Given the description of an element on the screen output the (x, y) to click on. 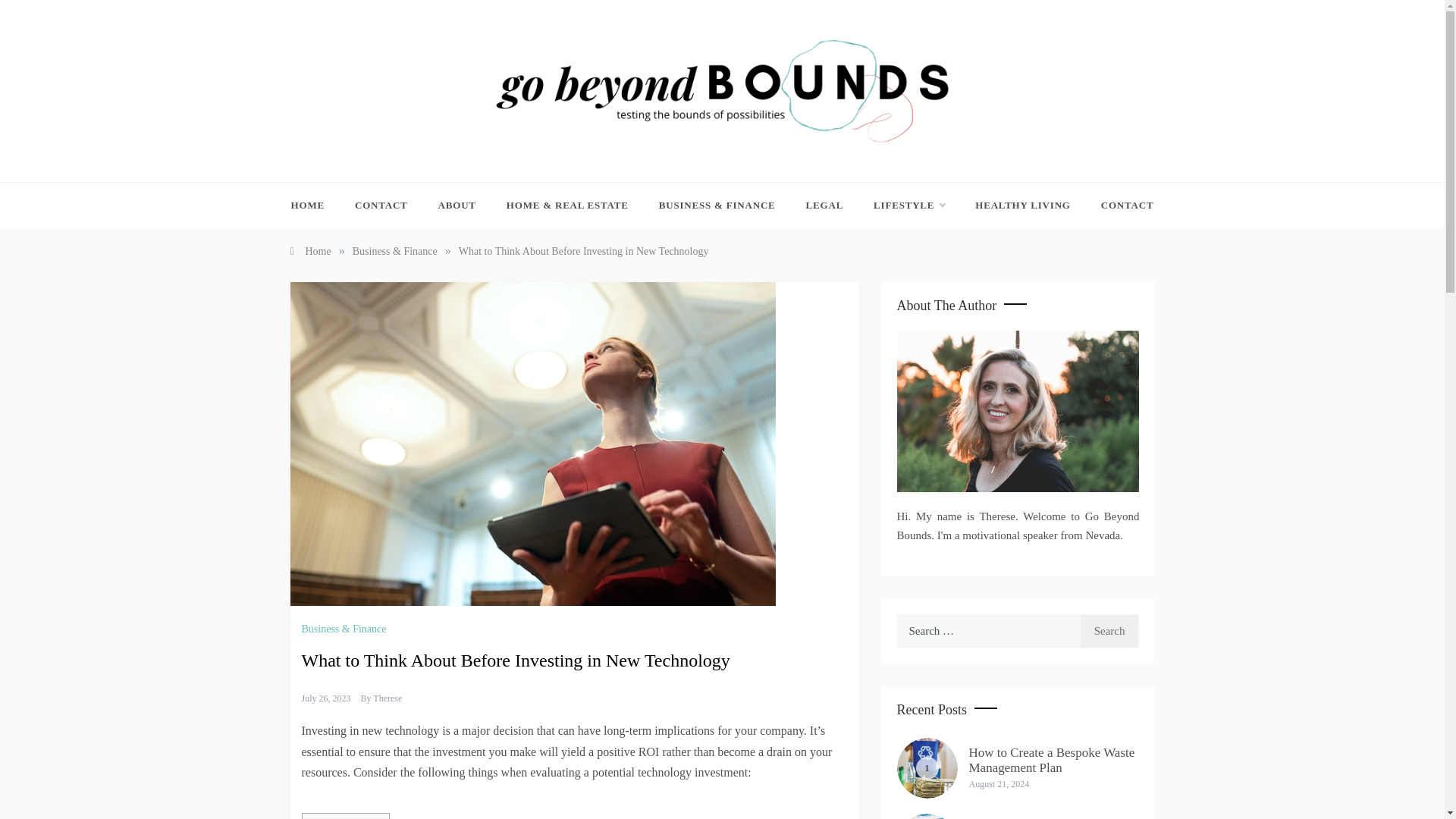
ABOUT (457, 205)
Therese (386, 697)
GO BEYOND BOUNDS (618, 157)
How to Create a Bespoke Waste Management Plan (1052, 759)
HOME (315, 205)
CONTACT (1120, 205)
LEGAL (824, 205)
Search (1110, 631)
LIFESTYLE (909, 205)
Home (309, 251)
